Given the description of an element on the screen output the (x, y) to click on. 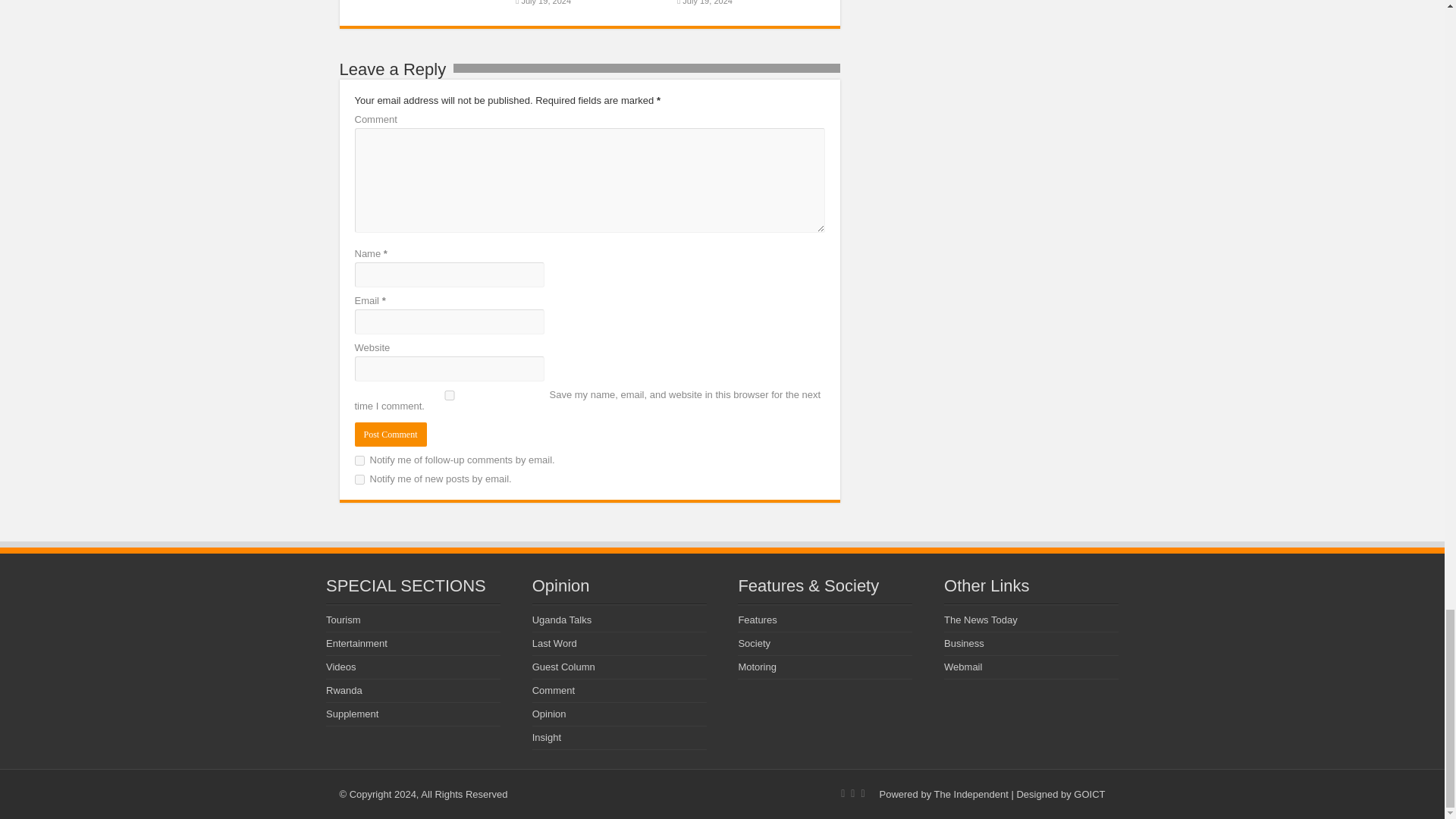
subscribe (360, 460)
yes (449, 395)
Post Comment (390, 434)
subscribe (360, 479)
